Given the description of an element on the screen output the (x, y) to click on. 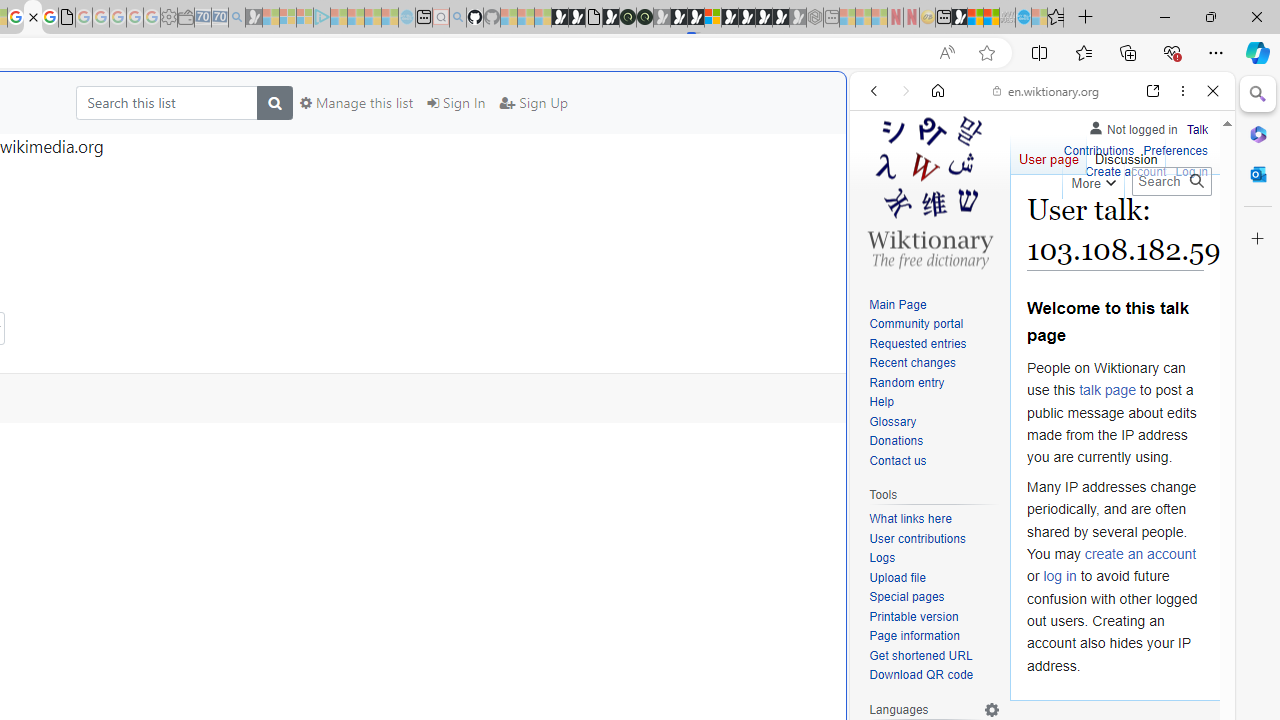
Contributions (1098, 148)
Contributions (1098, 151)
Contact us (934, 461)
log in (1059, 576)
